Given the description of an element on the screen output the (x, y) to click on. 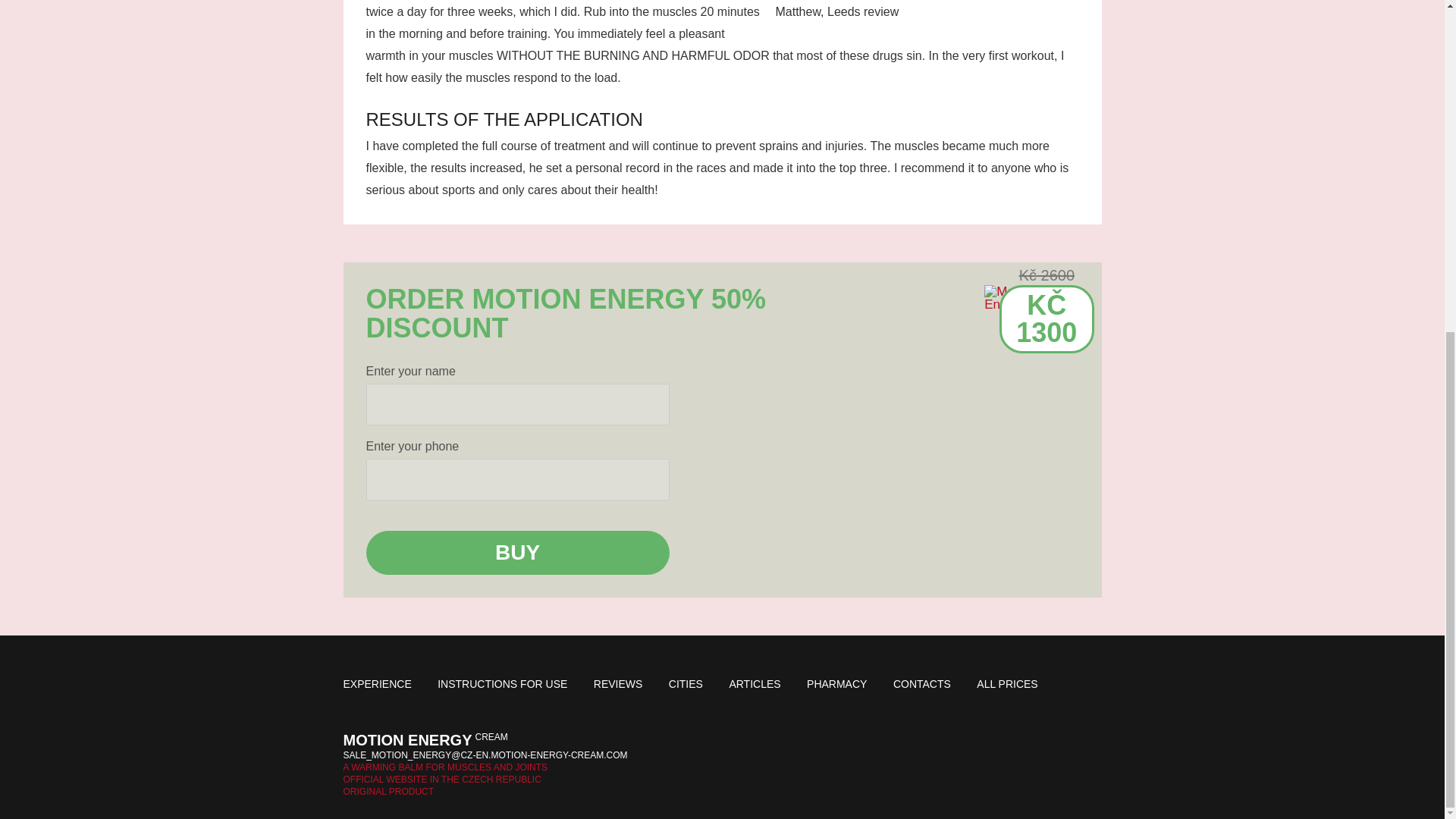
ALL PRICES (1006, 684)
BUY (516, 552)
CONTACTS (921, 684)
CITIES (685, 684)
PHARMACY (836, 684)
REVIEWS (618, 684)
ARTICLES (754, 684)
EXPERIENCE (376, 684)
INSTRUCTIONS FOR USE (502, 684)
